Given the description of an element on the screen output the (x, y) to click on. 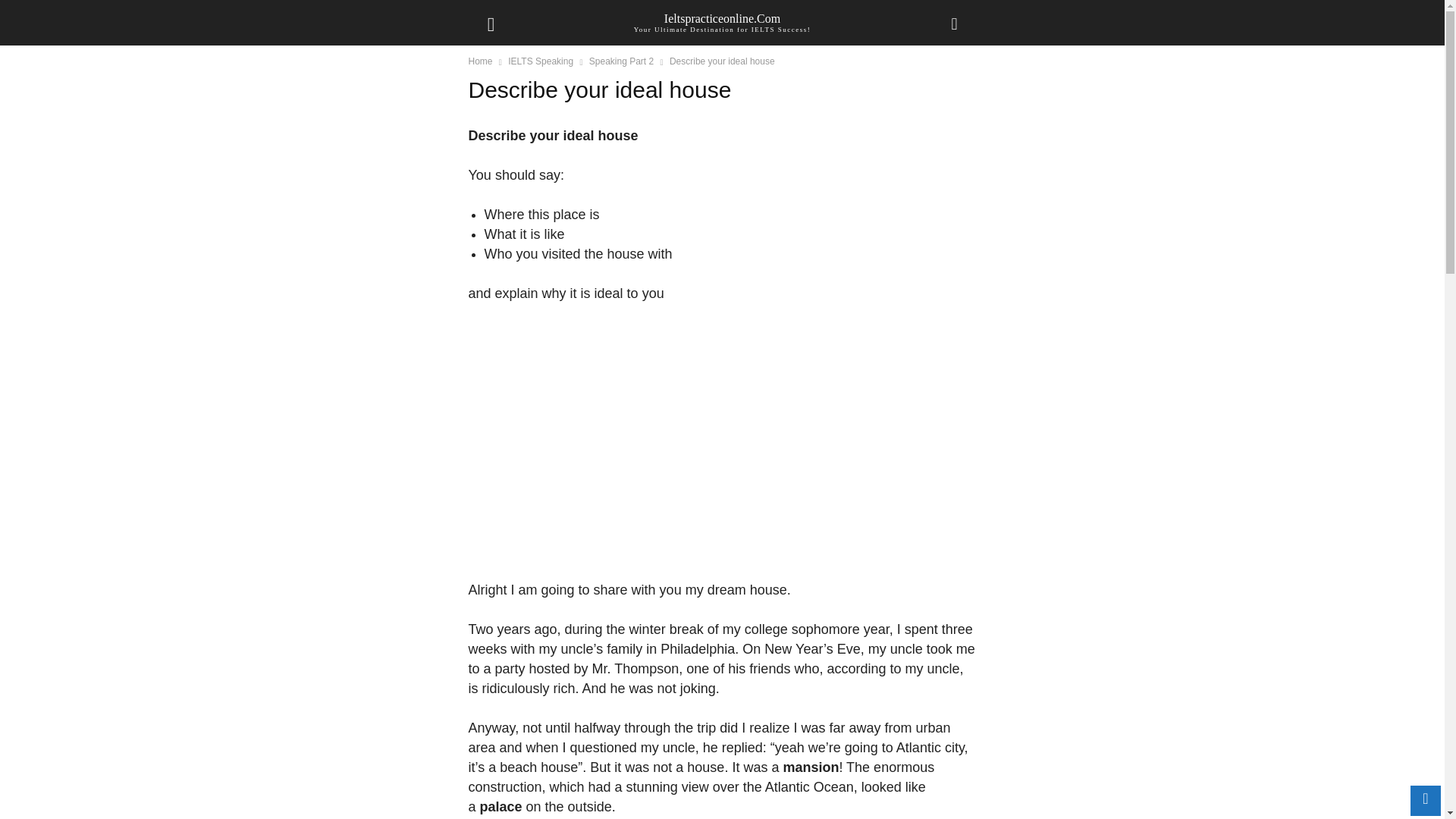
Speaking Part 2 (621, 61)
IELTS Speaking (540, 61)
Home (480, 61)
3rd party ad content (722, 446)
View all posts in IELTS Speaking (540, 61)
View all posts in Speaking Part 2 (621, 61)
